Given the description of an element on the screen output the (x, y) to click on. 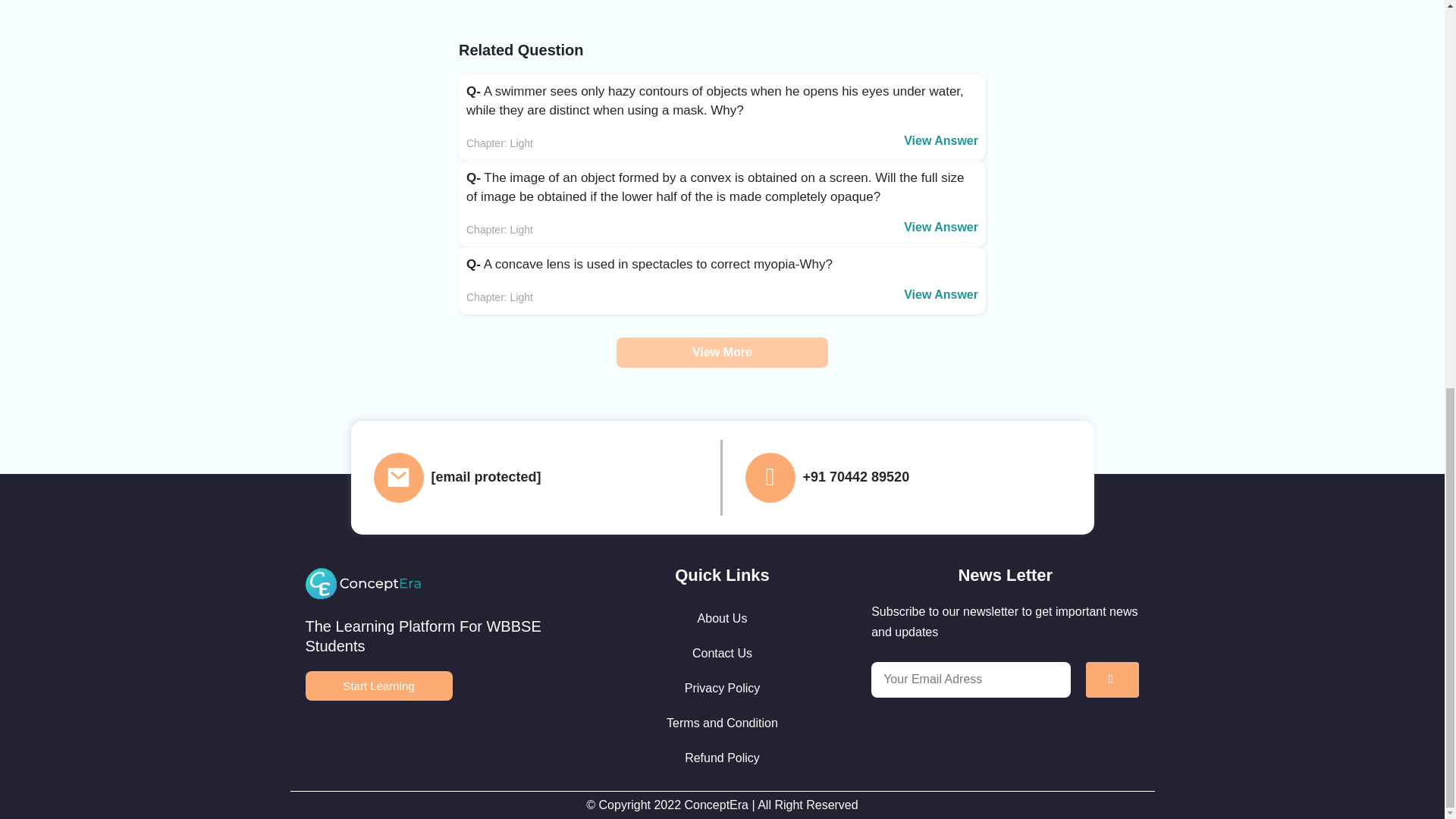
View Answer (941, 294)
View Answer (941, 226)
Contact Us (722, 653)
About Us (722, 618)
View Answer (941, 140)
View More (721, 352)
Start Learning (377, 685)
